Given the description of an element on the screen output the (x, y) to click on. 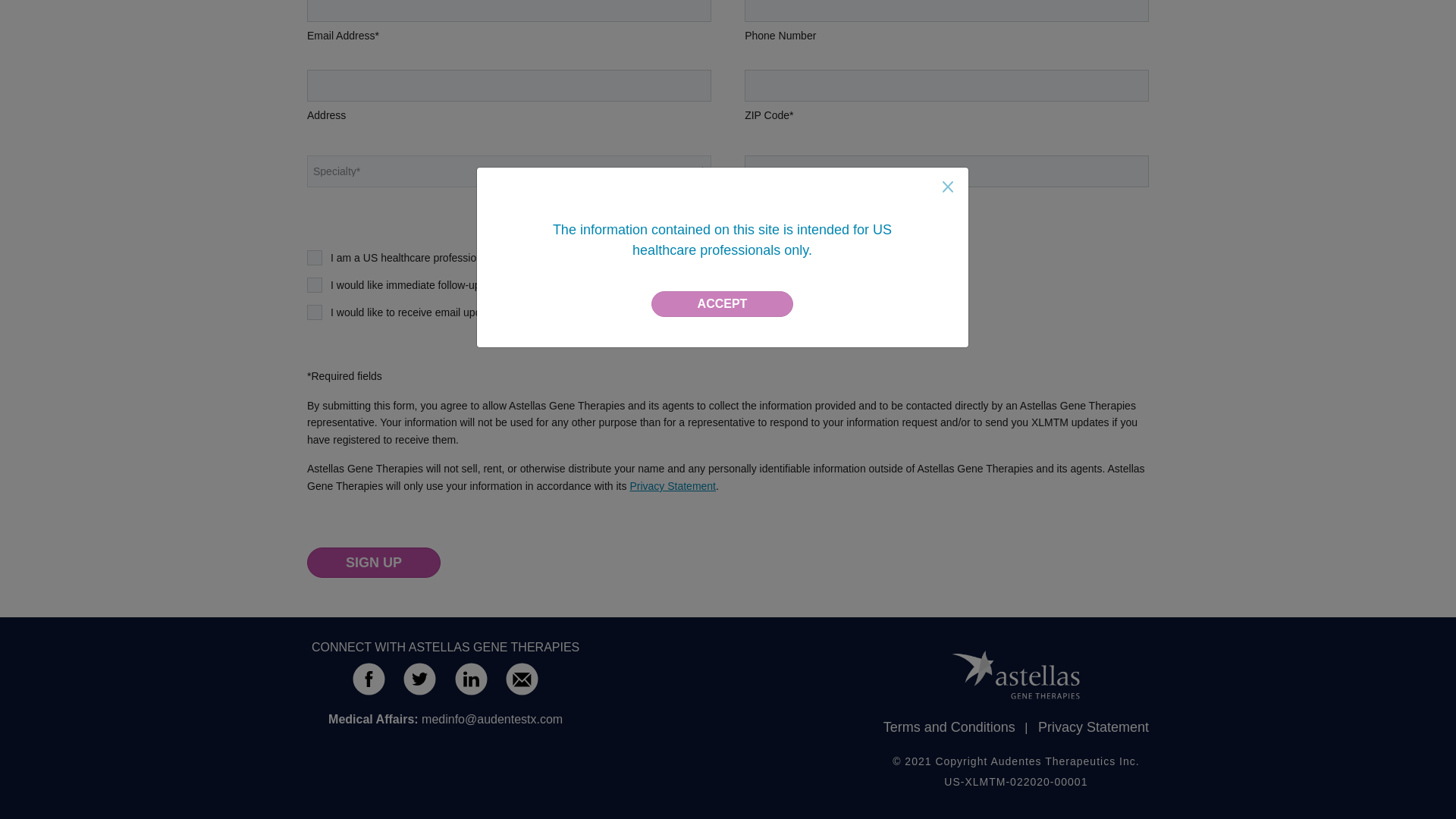
SIGN UP (374, 562)
